Given the description of an element on the screen output the (x, y) to click on. 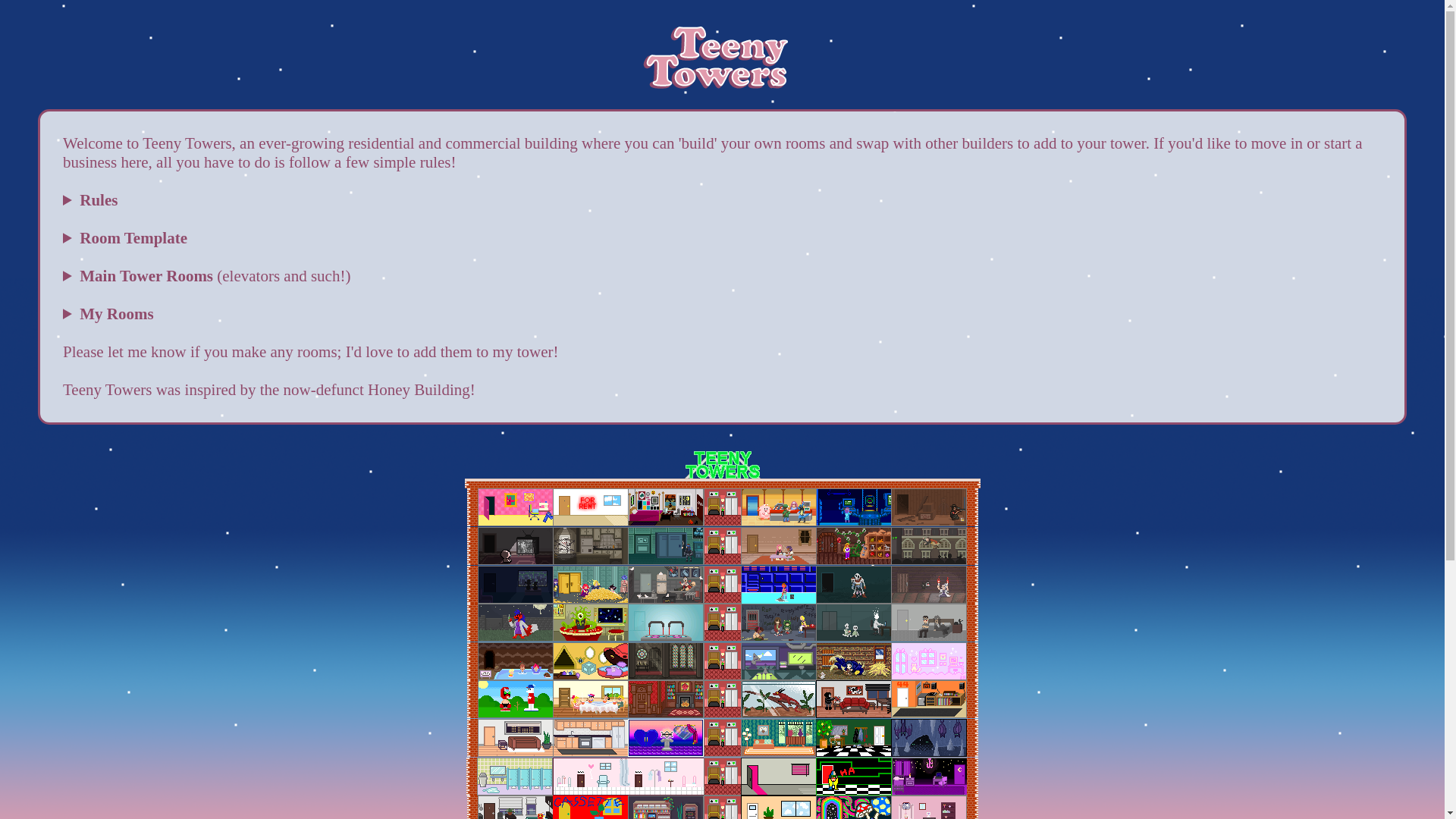
Snake and Otacon from Metal Gear Solid (665, 546)
Based on the artist's actual teenage bedroom! (665, 507)
let me know (146, 352)
Metroid research at Ceres Space Station (853, 507)
Isaac from the Binding of Isaac watching TV (515, 546)
Utena Tenjou and Anthy Himemiya having tea (778, 546)
Silent Hill 4: The Room (590, 546)
Radic and Farnsworth at a Pokemon Center (778, 507)
Honey Building (419, 389)
